Given the description of an element on the screen output the (x, y) to click on. 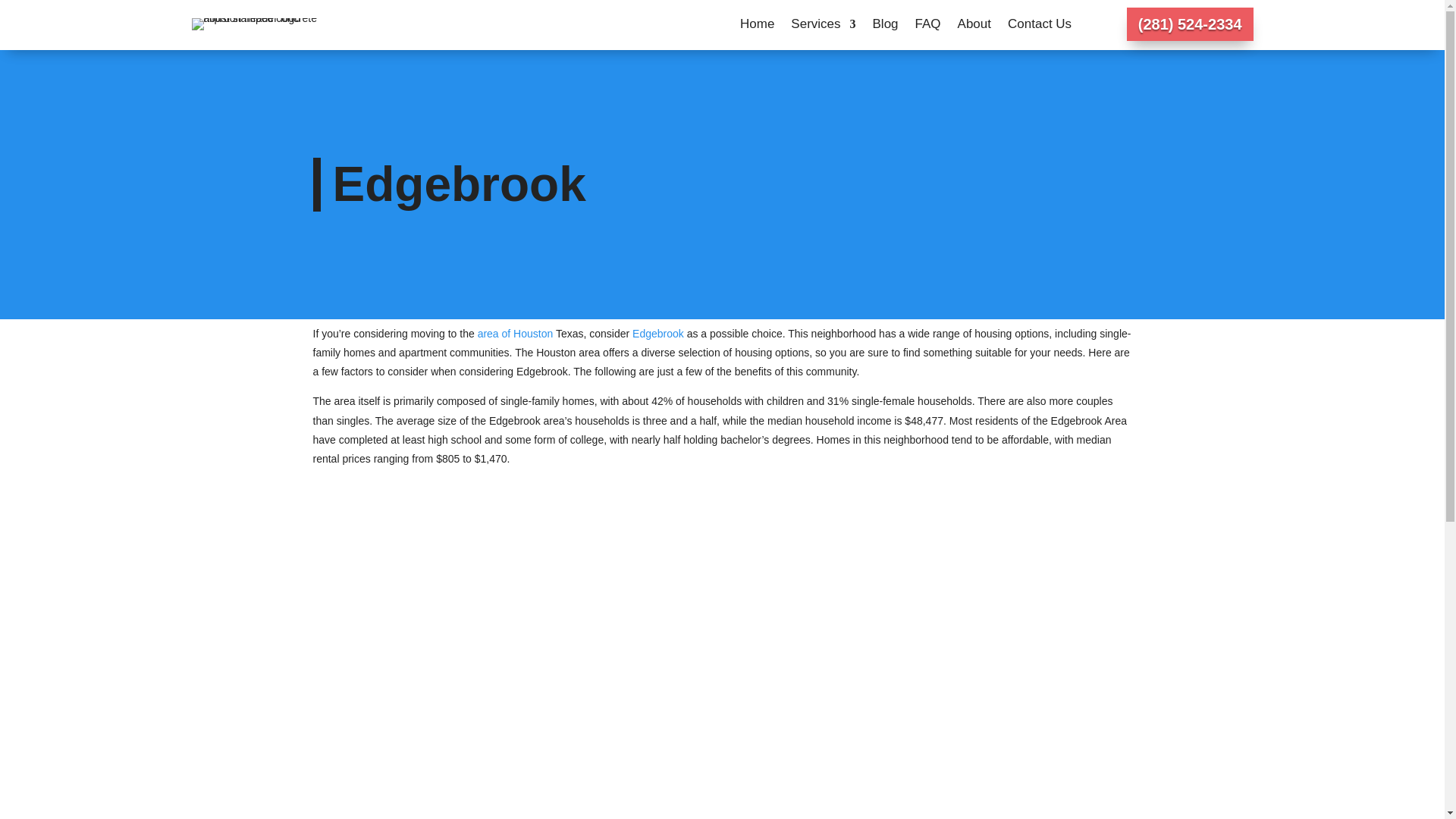
Edgebrook (657, 333)
area of Houston (515, 333)
Home (756, 27)
FAQ (927, 27)
Header Logo (265, 24)
Contact Us (1039, 27)
About (974, 27)
Blog (885, 27)
Services (823, 27)
